Given the description of an element on the screen output the (x, y) to click on. 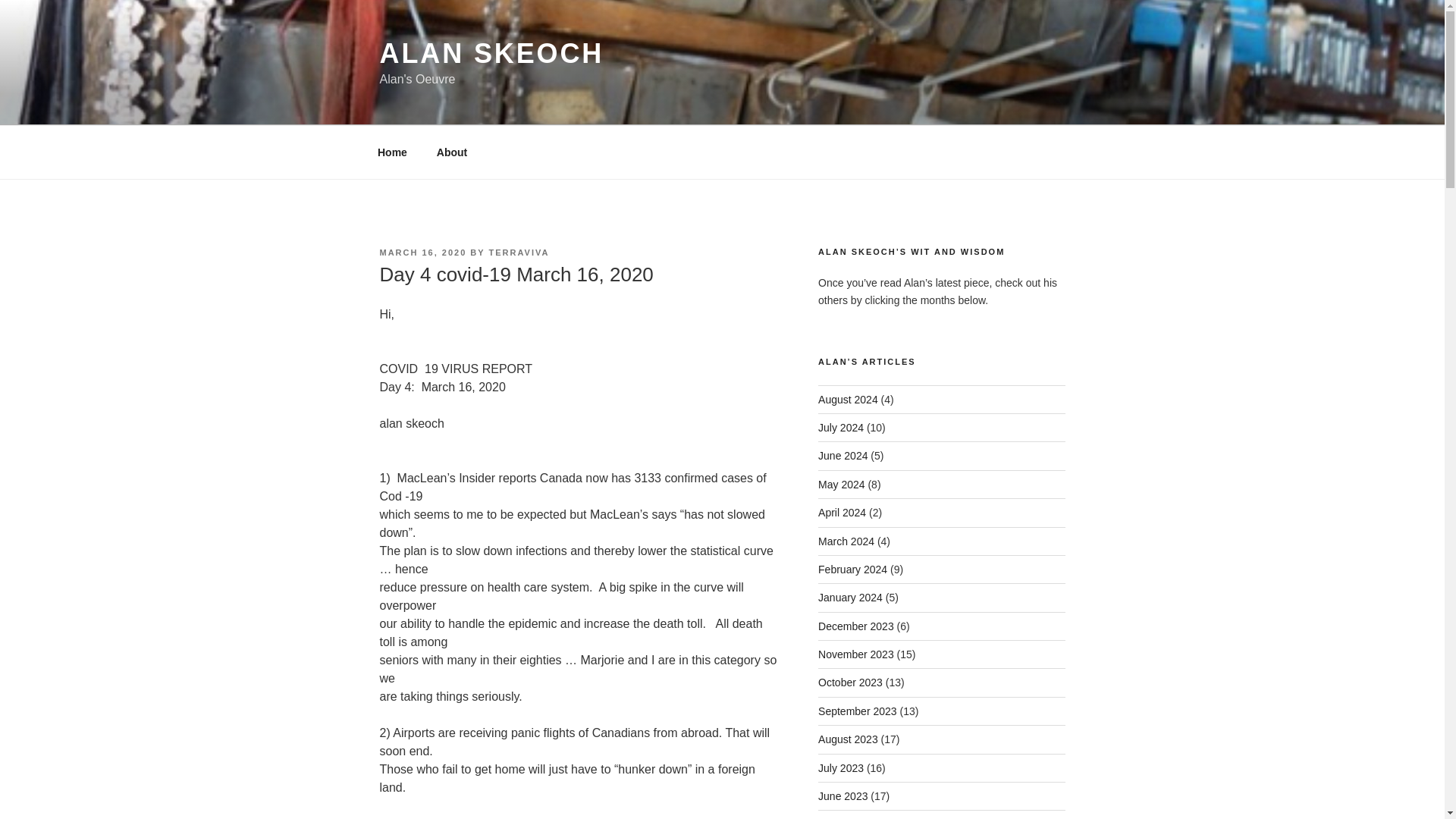
February 2024 (852, 569)
June 2023 (842, 796)
November 2023 (855, 654)
September 2023 (857, 711)
March 2024 (846, 541)
July 2024 (840, 427)
TERRAVIVA (519, 252)
May 2023 (841, 818)
July 2023 (840, 767)
August 2024 (847, 399)
